Given the description of an element on the screen output the (x, y) to click on. 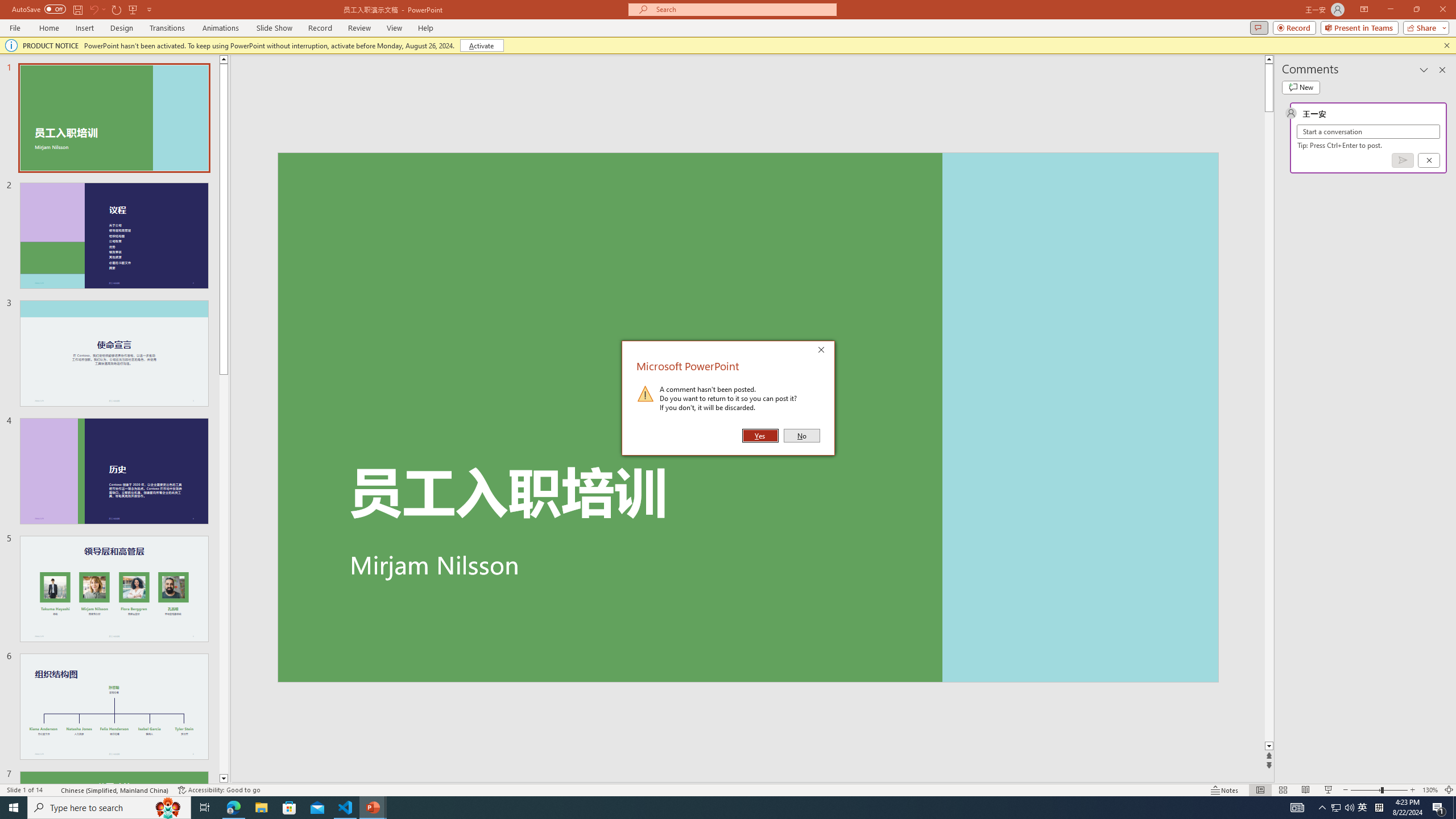
Yes (760, 435)
No (801, 435)
PowerPoint - 2 running windows (373, 807)
